Given the description of an element on the screen output the (x, y) to click on. 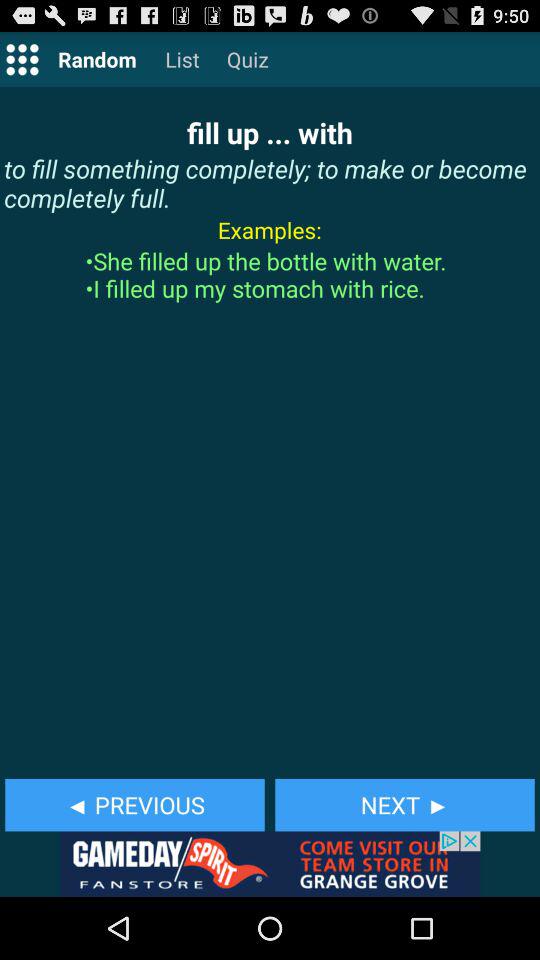
advertisement (270, 864)
